Given the description of an element on the screen output the (x, y) to click on. 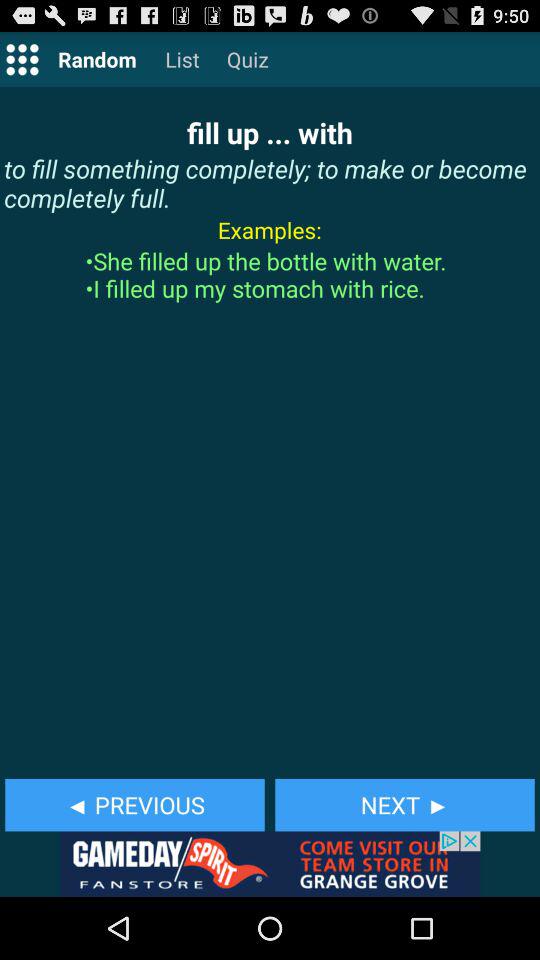
advertisement (270, 864)
